Given the description of an element on the screen output the (x, y) to click on. 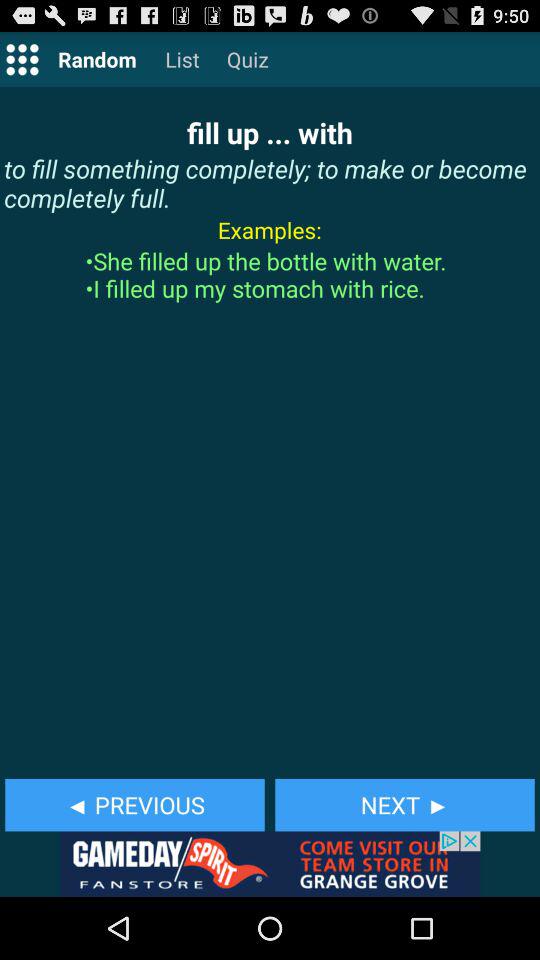
advertisement (270, 864)
